Given the description of an element on the screen output the (x, y) to click on. 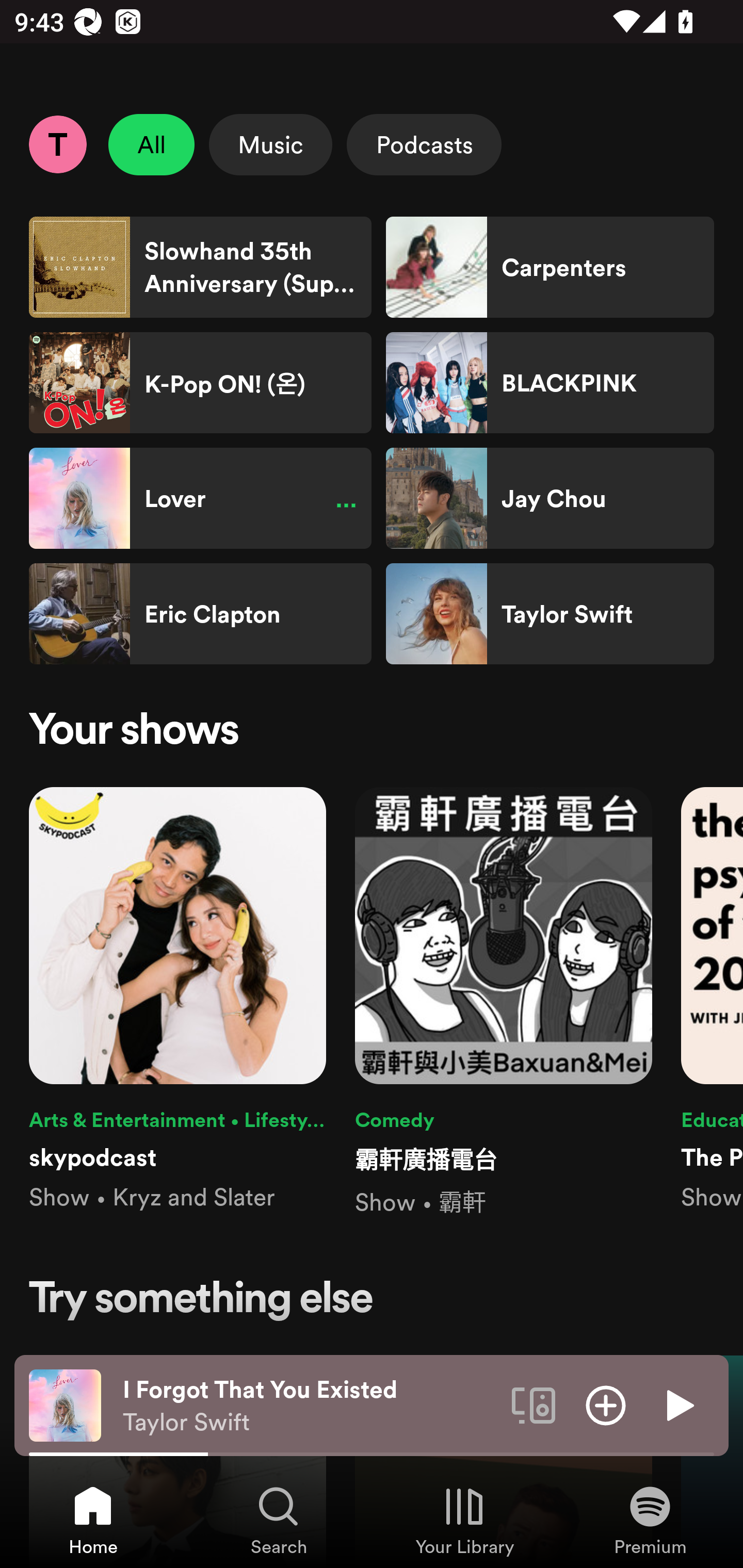
Profile (57, 144)
All Unselect All (151, 144)
Music Select Music (270, 144)
Podcasts Select Podcasts (423, 144)
Carpenters Shortcut Carpenters (549, 267)
K-Pop ON! (온) Shortcut K-Pop ON! (온) (199, 382)
BLACKPINK Shortcut BLACKPINK (549, 382)
Lover Shortcut Lover Paused (199, 498)
Jay Chou Shortcut Jay Chou (549, 498)
Eric Clapton Shortcut Eric Clapton (199, 613)
Taylor Swift Shortcut Taylor Swift (549, 613)
Comedy 霸軒廣播電台 Show • 霸軒 (503, 1002)
I Forgot That You Existed Taylor Swift (309, 1405)
The cover art of the currently playing track (64, 1404)
Connect to a device. Opens the devices menu (533, 1404)
Add item (605, 1404)
Play (677, 1404)
Home, Tab 1 of 4 Home Home (92, 1519)
Search, Tab 2 of 4 Search Search (278, 1519)
Your Library, Tab 3 of 4 Your Library Your Library (464, 1519)
Premium, Tab 4 of 4 Premium Premium (650, 1519)
